Given the description of an element on the screen output the (x, y) to click on. 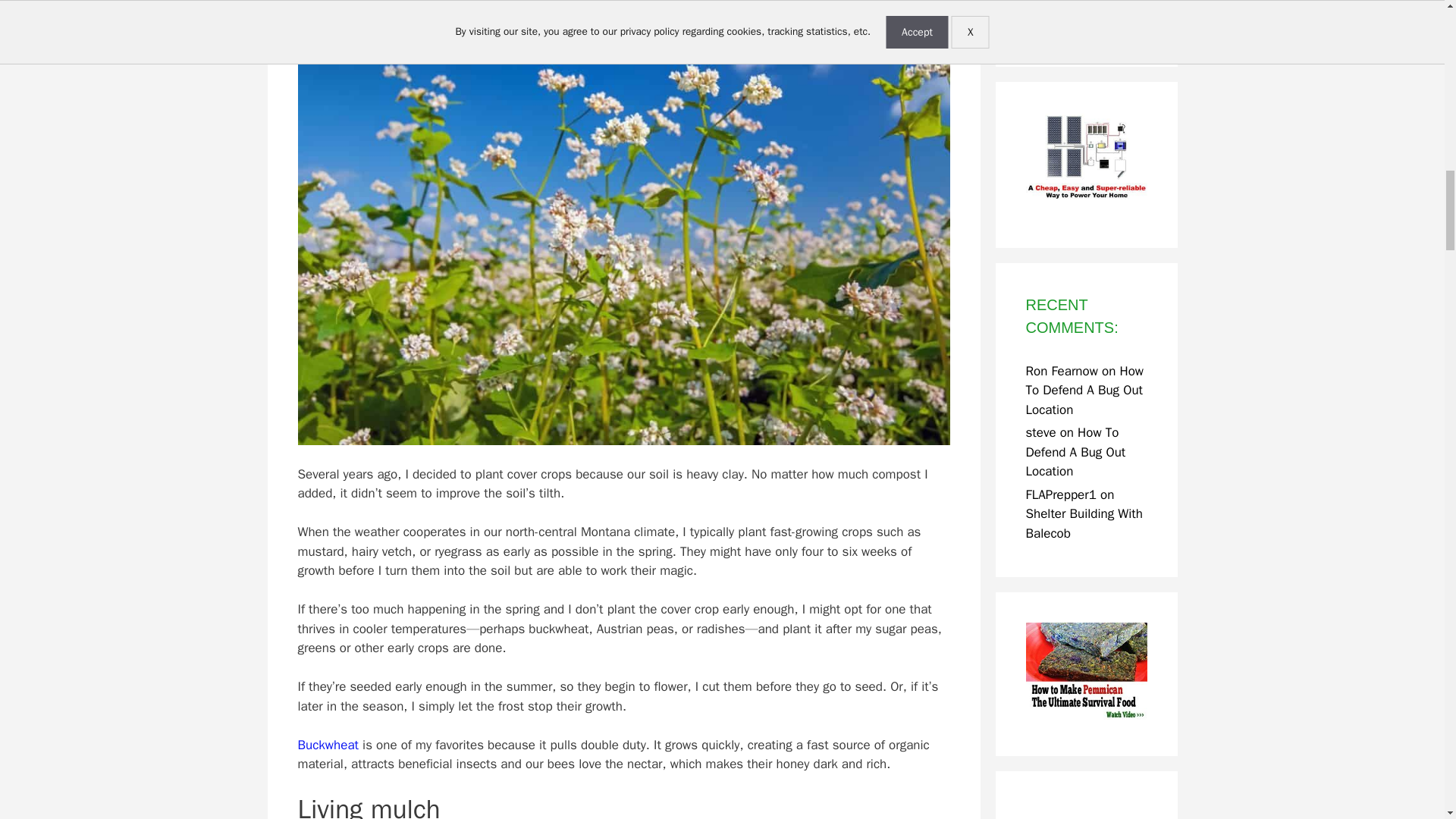
Buckwheat (327, 744)
1 power your home optimised (1086, 164)
LostWaysB1 (1086, 673)
